Given the description of an element on the screen output the (x, y) to click on. 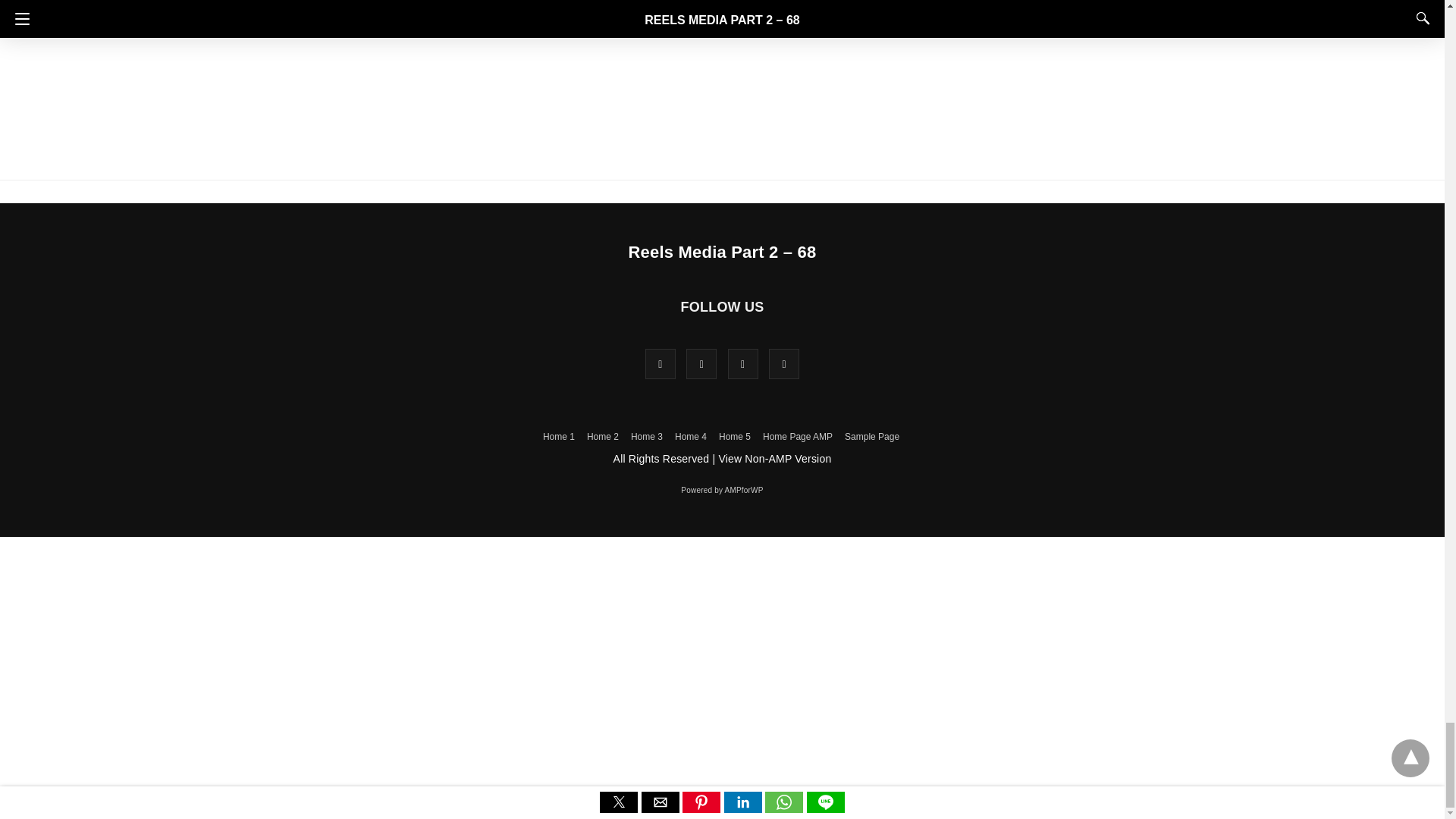
Powered by AMPforWP (721, 490)
Home 4 (690, 436)
Home 5 (735, 436)
Home 3 (646, 436)
Sample Page (871, 436)
View Non-AMP Version (774, 458)
Home Page AMP (797, 436)
Home 1 (559, 436)
Home 2 (602, 436)
